Given the description of an element on the screen output the (x, y) to click on. 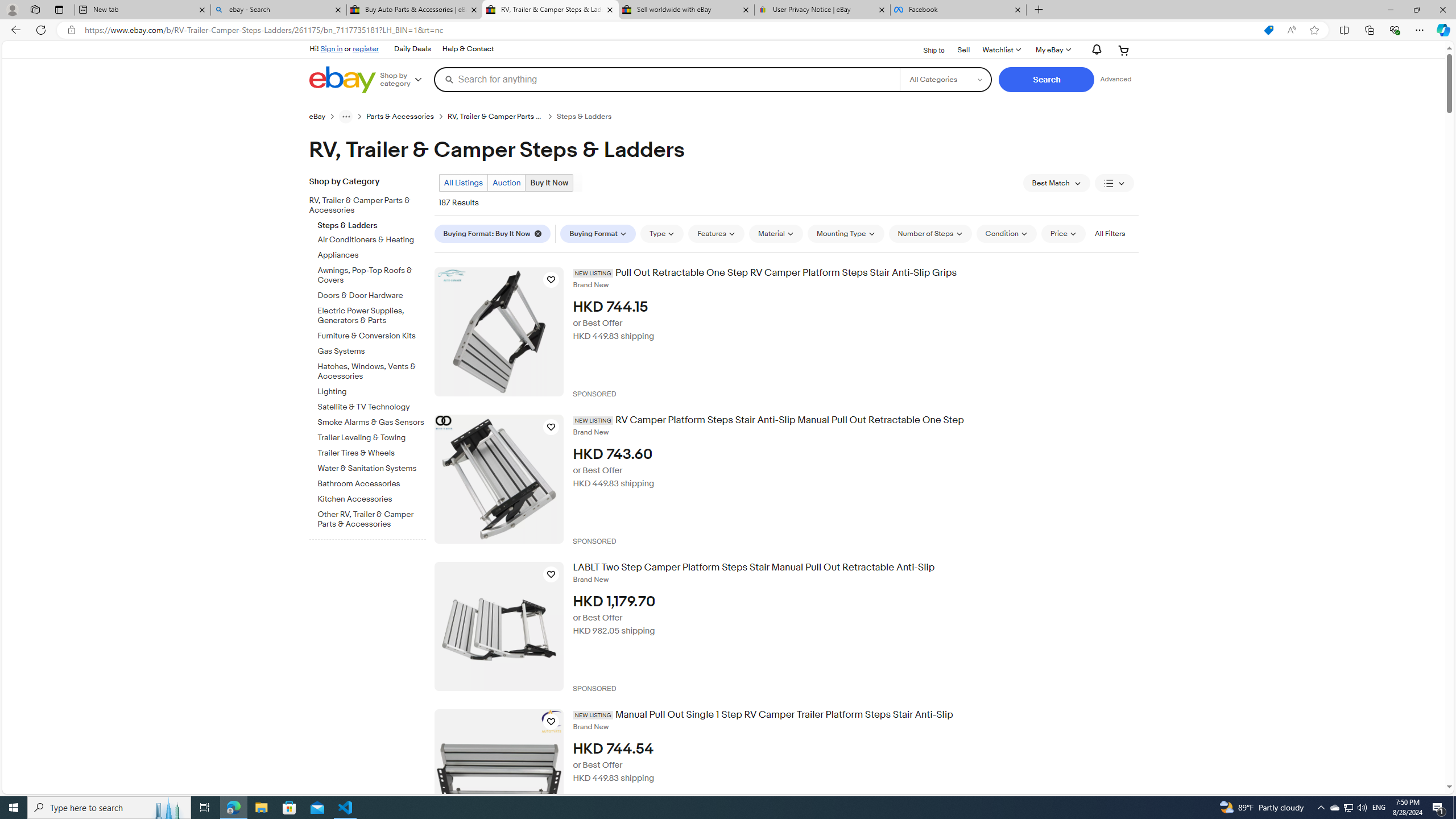
Mounting Type (844, 233)
Condition (1005, 233)
Watchlist (1000, 49)
All Filters (1109, 233)
Facebook (957, 9)
Kitchen Accessories (371, 497)
Satellite & TV Technology (371, 404)
Trailer Leveling & Towing (371, 437)
